Given the description of an element on the screen output the (x, y) to click on. 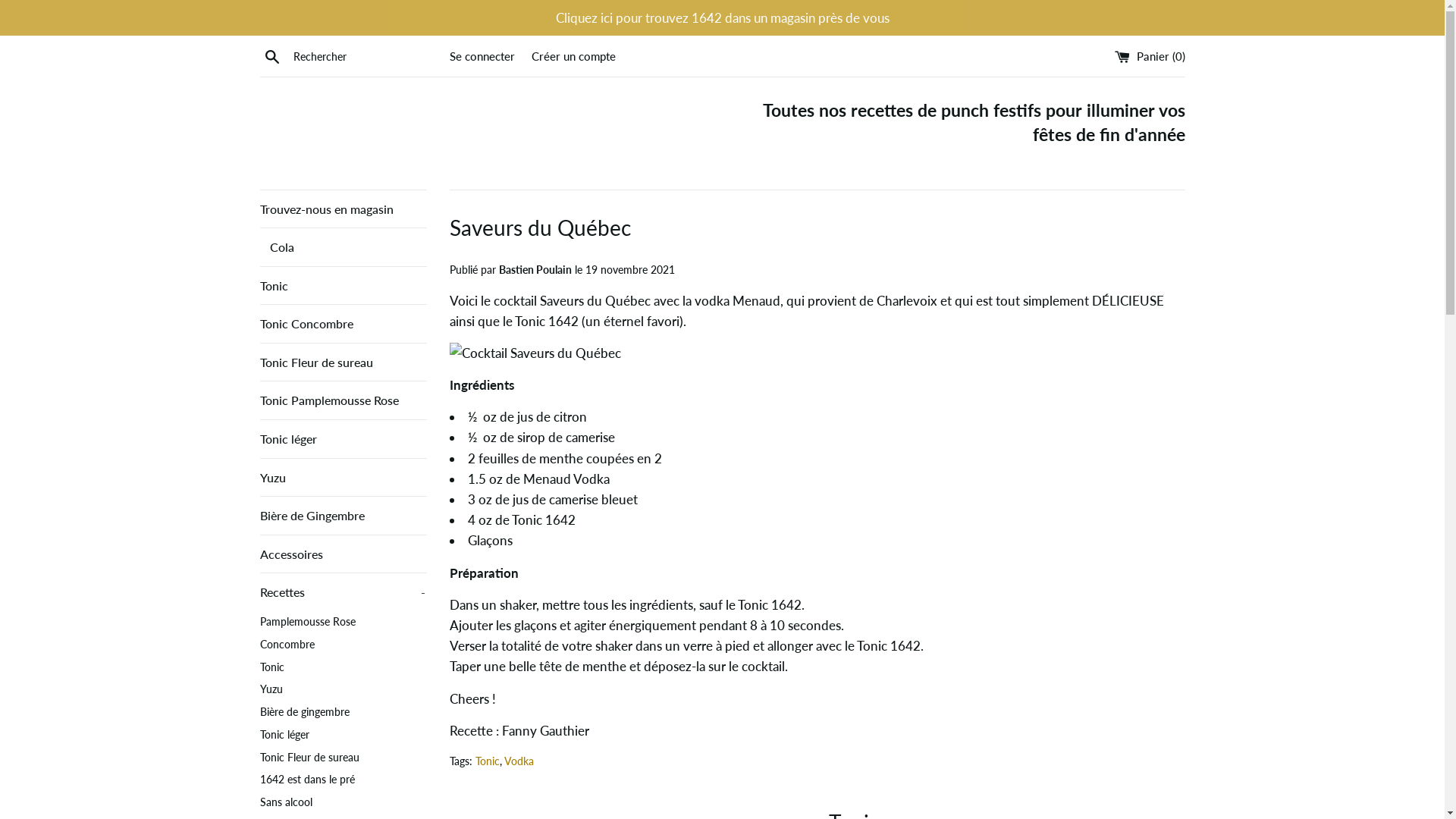
Sans alcool Element type: text (342, 802)
Yuzu Element type: text (342, 689)
Tonic Fleur de sureau Element type: text (342, 362)
Panier (0) Element type: text (1149, 55)
Tonic Concombre Element type: text (342, 323)
Tonic Element type: text (486, 760)
Vodka Element type: text (518, 760)
Se connecter Element type: text (481, 55)
Recettes
- Element type: text (342, 592)
Recherche Element type: text (271, 55)
Tonic Fleur de sureau Element type: text (342, 757)
Tonic Pamplemousse Rose Element type: text (342, 400)
Tonic Element type: text (342, 667)
Concombre Element type: text (342, 644)
Pamplemousse Rose Element type: text (342, 622)
Tonic Element type: text (342, 285)
Trouvez-nous en magasin Element type: text (342, 209)
Accessoires Element type: text (342, 554)
Yuzu Element type: text (342, 477)
